Given the description of an element on the screen output the (x, y) to click on. 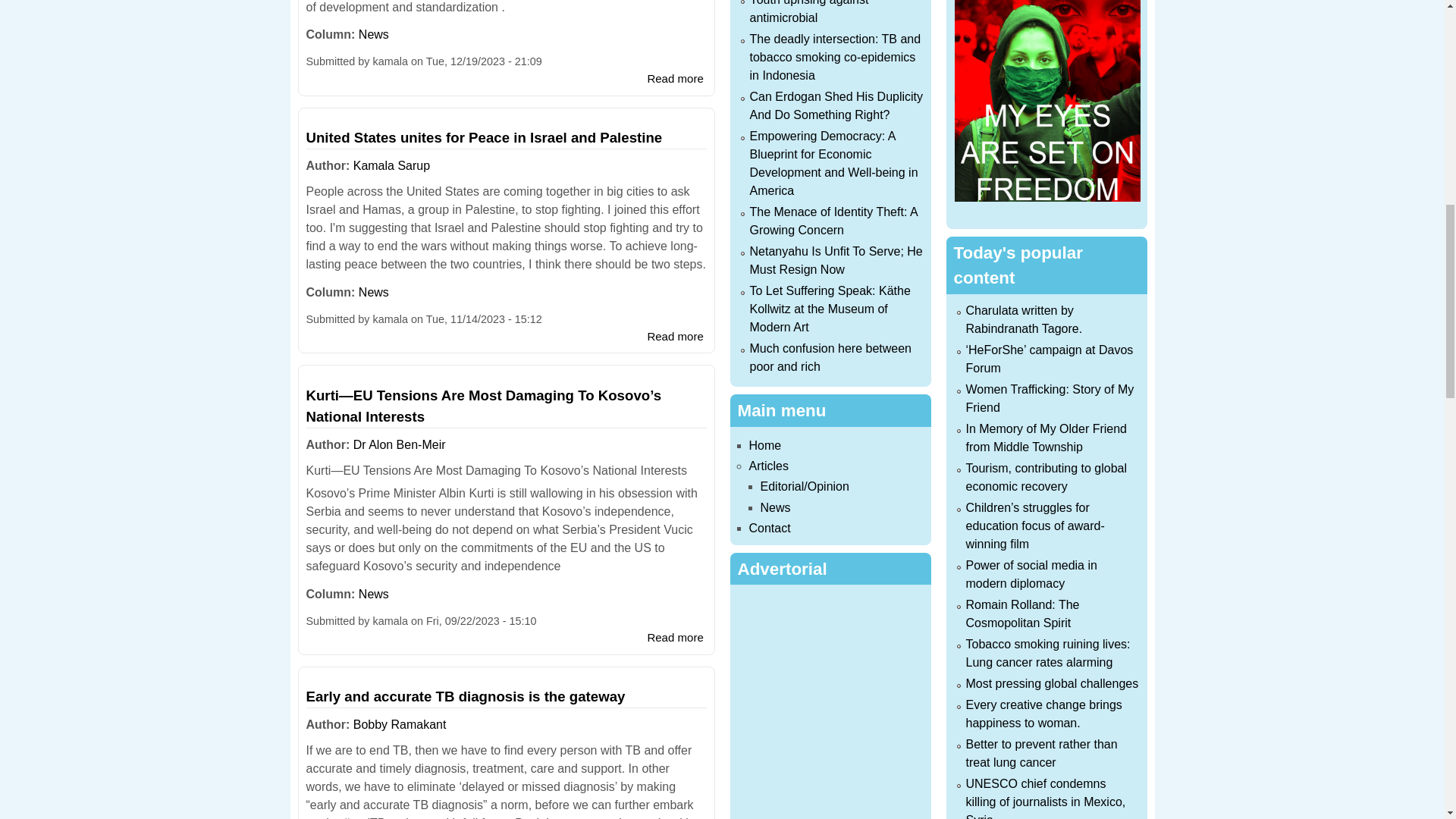
News (373, 33)
Kamala Sarup (391, 164)
Early and accurate TB diagnosis is the gateway (465, 696)
United States unites for Peace in Israel and Palestine (483, 137)
Dr Alon Ben-Meir (399, 444)
News (373, 594)
Bobby Ramakant (399, 724)
United States unites for Peace in Israel and Palestine (674, 336)
Surendra-Tara Distinguished Award Function  (674, 78)
News (373, 291)
